Given the description of an element on the screen output the (x, y) to click on. 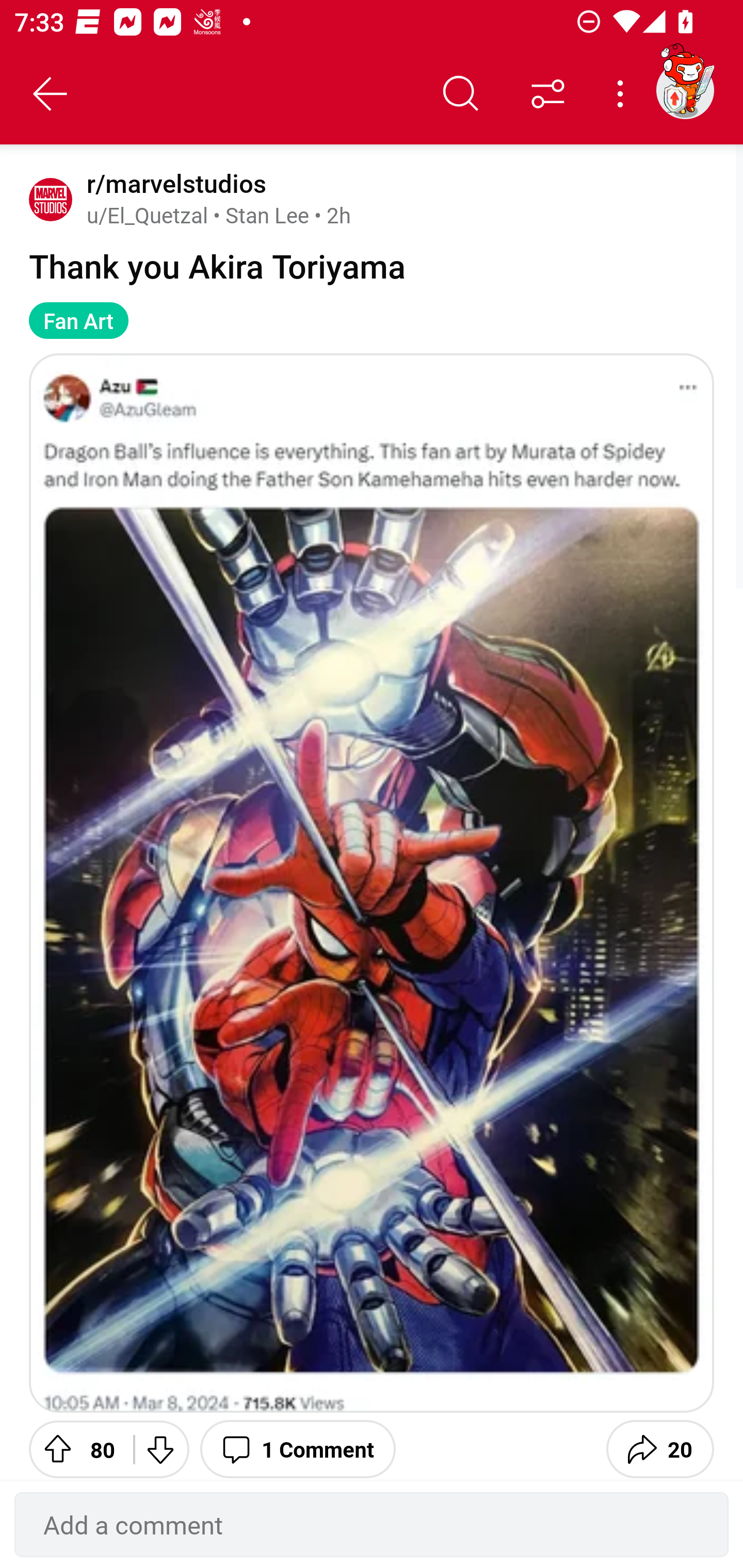
Back (50, 93)
TestAppium002 account (685, 90)
Search comments (460, 93)
Sort comments (547, 93)
More options (623, 93)
r/marvelstudios (173, 183)
Avatar (50, 199)
Fan Art (78, 320)
Image (371, 882)
Upvote 80 (73, 1446)
Downvote (158, 1446)
1 Comment (297, 1446)
Share 20 (660, 1446)
Add a comment (371, 1524)
